Given the description of an element on the screen output the (x, y) to click on. 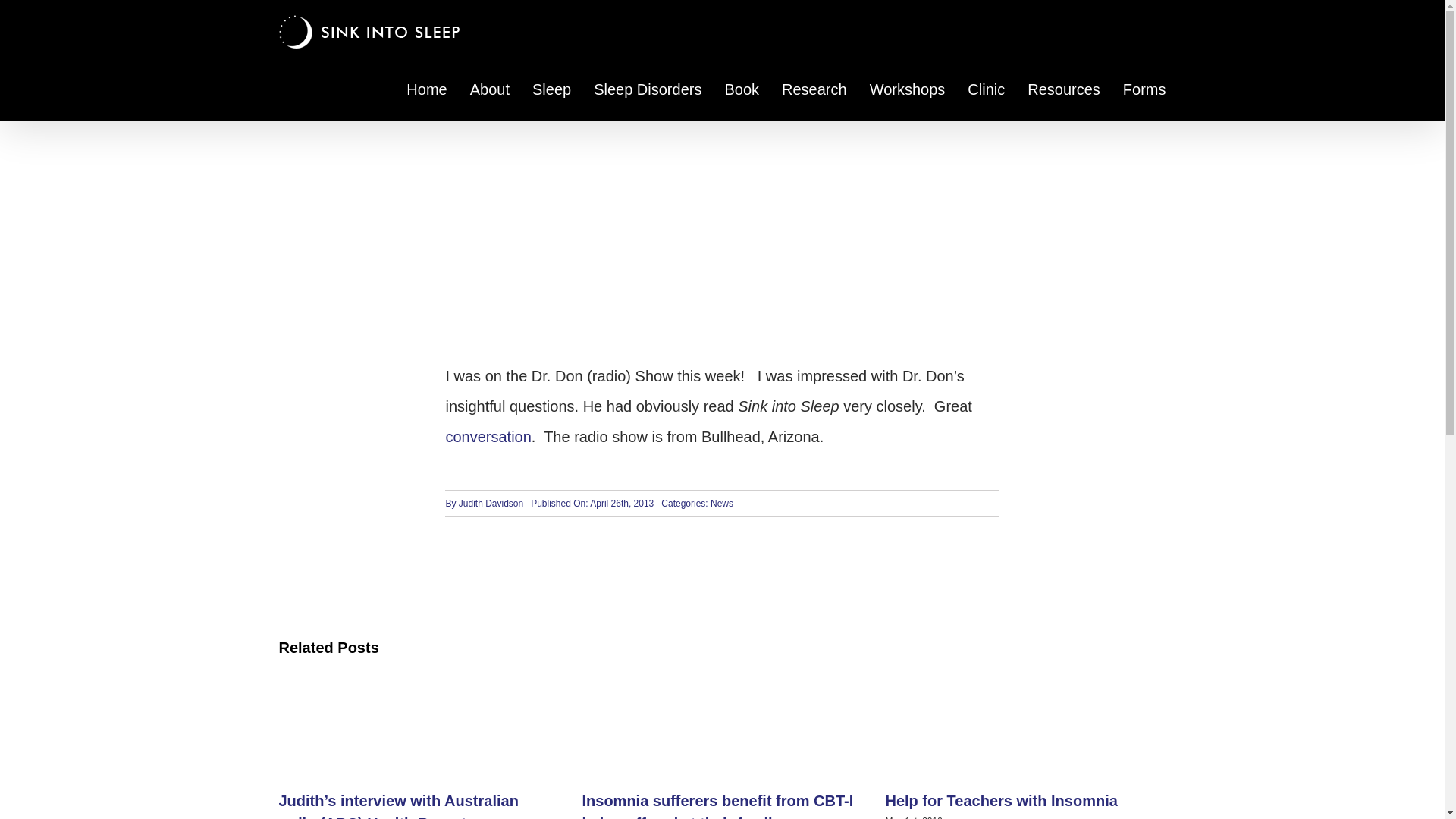
News (721, 502)
Help for Teachers with Insomnia (1000, 800)
Workshops (906, 89)
Research (814, 89)
Help for Teachers with Insomnia (1000, 800)
Resources (1063, 89)
Judith Davidson (490, 502)
Dr. Don Show interview with Judith (488, 436)
Posts by Judith Davidson (490, 502)
Sleep Disorders (647, 89)
conversation (488, 436)
